Given the description of an element on the screen output the (x, y) to click on. 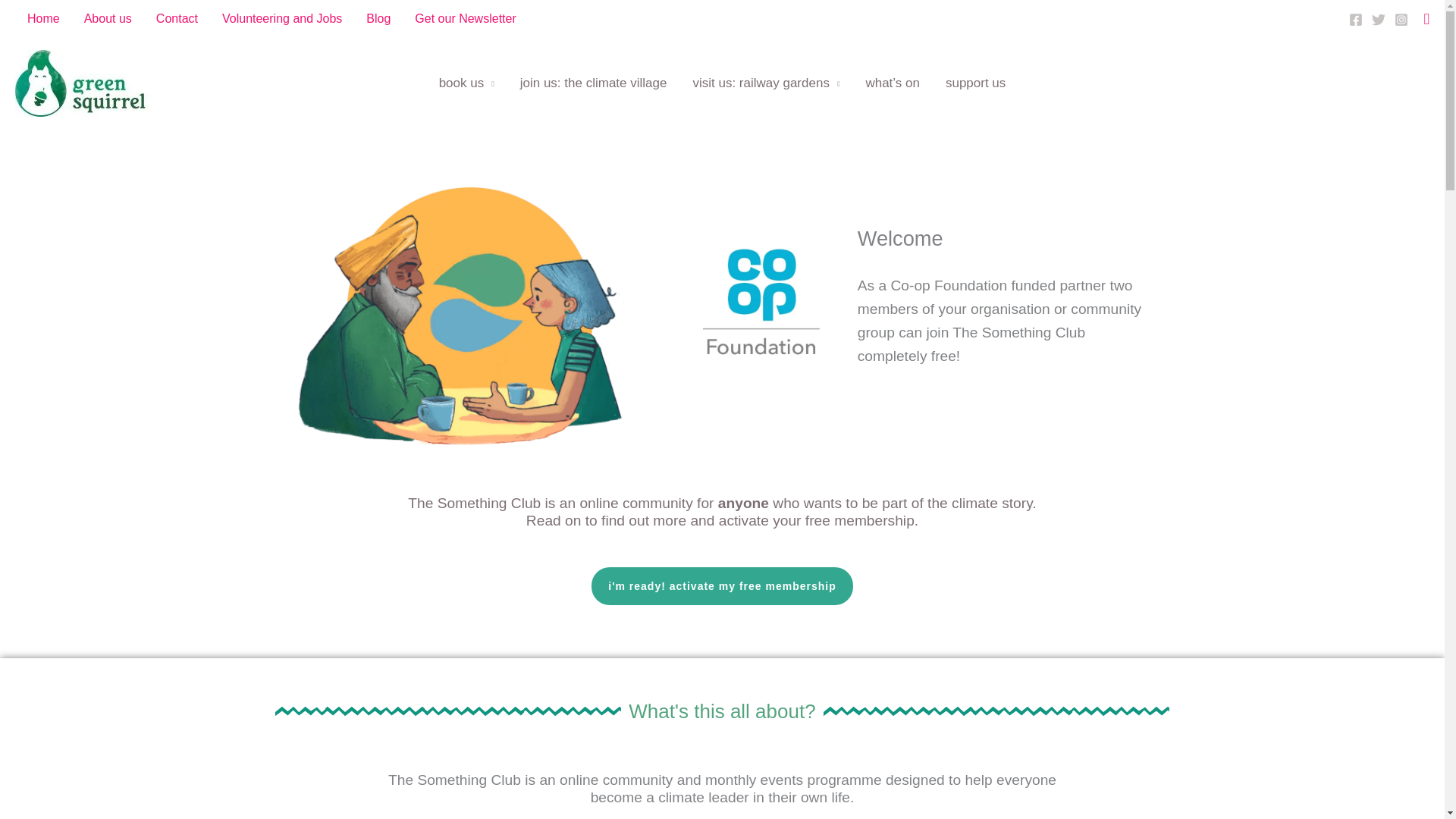
About us (107, 18)
support us (975, 82)
visit us: railway gardens (765, 82)
join us: the climate village (592, 82)
i'm ready! activate my free membership (721, 586)
Get our Newsletter (465, 18)
Volunteering and Jobs (281, 18)
Search (1426, 18)
Home (42, 18)
book us (466, 82)
Blog (378, 18)
Contact (176, 18)
